Given the description of an element on the screen output the (x, y) to click on. 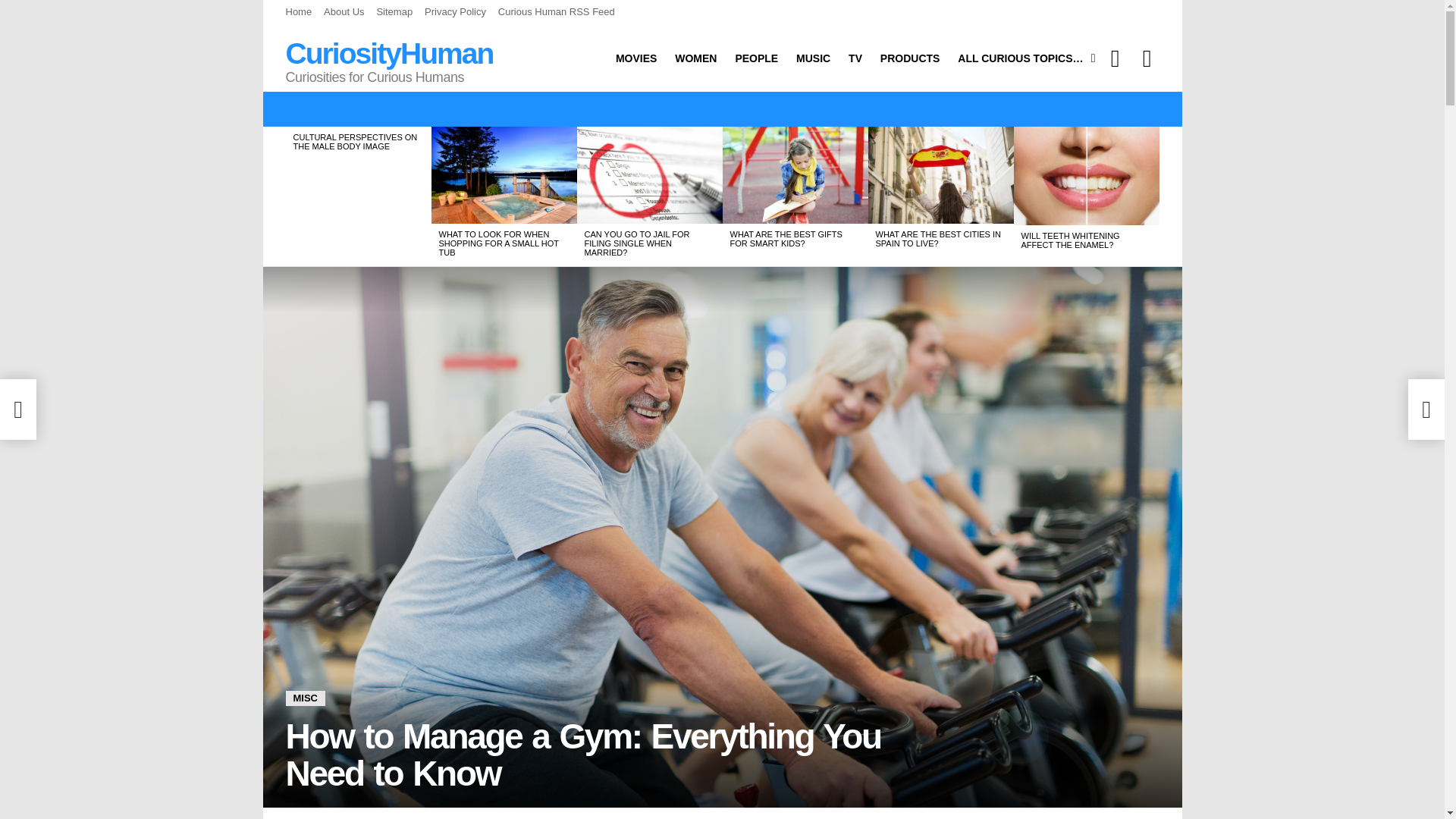
MUSIC (813, 57)
Will Teeth Whitening Affect the Enamel? (1085, 175)
What Are the Best Gifts for Smart Kids? (794, 174)
What Are the Best Cities in Spain to Live? (940, 174)
MOVIES (635, 57)
About Us (343, 12)
TV (855, 57)
CuriosityHuman (389, 52)
PEOPLE (756, 57)
What to Look for When Shopping for a Small Hot Tub (503, 174)
Sitemap (393, 12)
Privacy Policy (455, 12)
Home (298, 12)
Curious Human RSS Feed (555, 12)
Can You Go to Jail for Filing Single When Married? (649, 174)
